Given the description of an element on the screen output the (x, y) to click on. 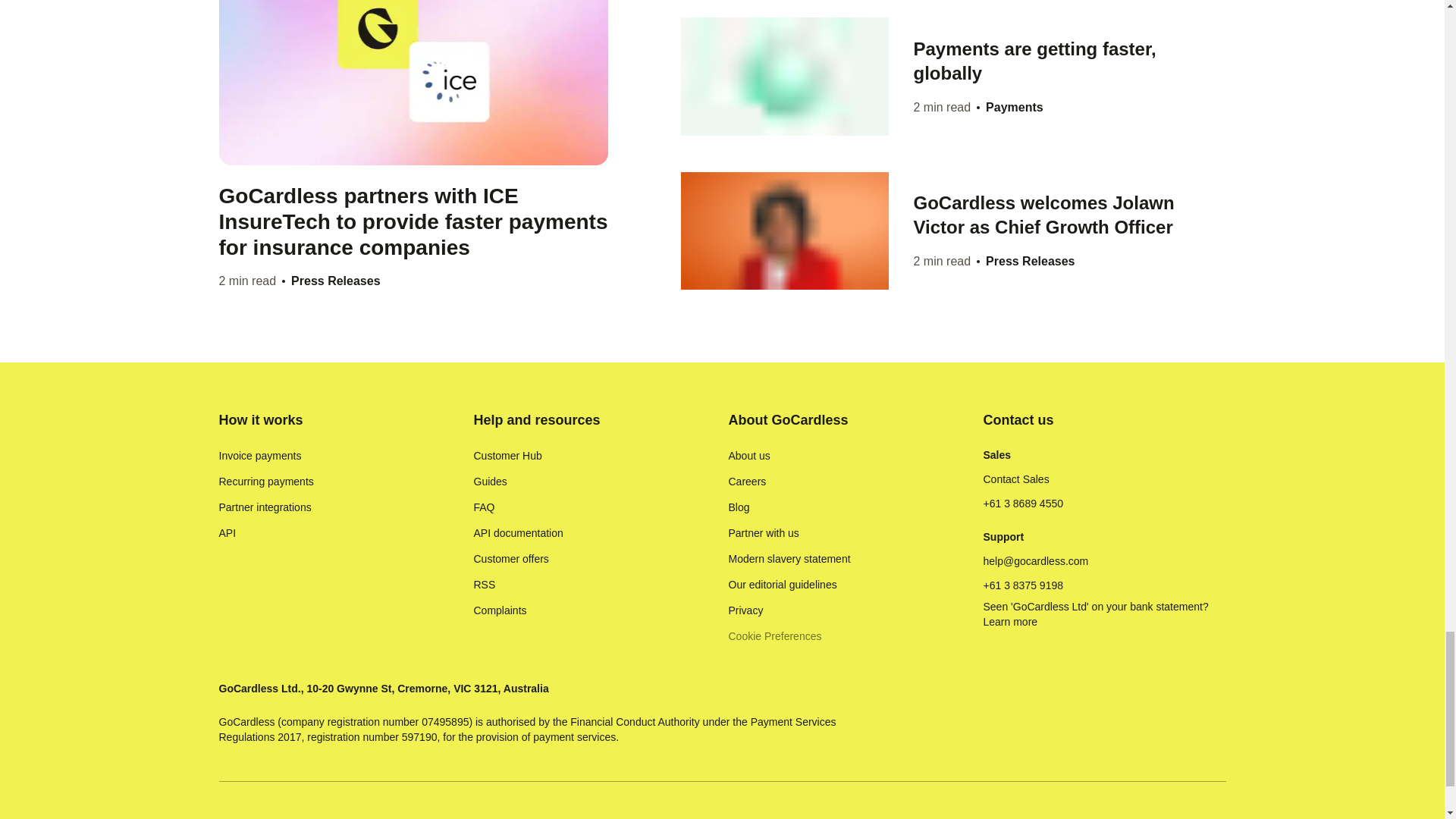
Customer offers (510, 558)
Guides (489, 481)
Modern slavery statement (789, 558)
API (226, 532)
Privacy (745, 610)
RSS (484, 584)
FAQ (484, 507)
Recurring payments (265, 481)
Blog (738, 507)
Complaints (499, 610)
Partner with us (762, 532)
API documentation (517, 532)
Invoice payments (259, 455)
About us (749, 455)
Customer Hub (507, 455)
